Given the description of an element on the screen output the (x, y) to click on. 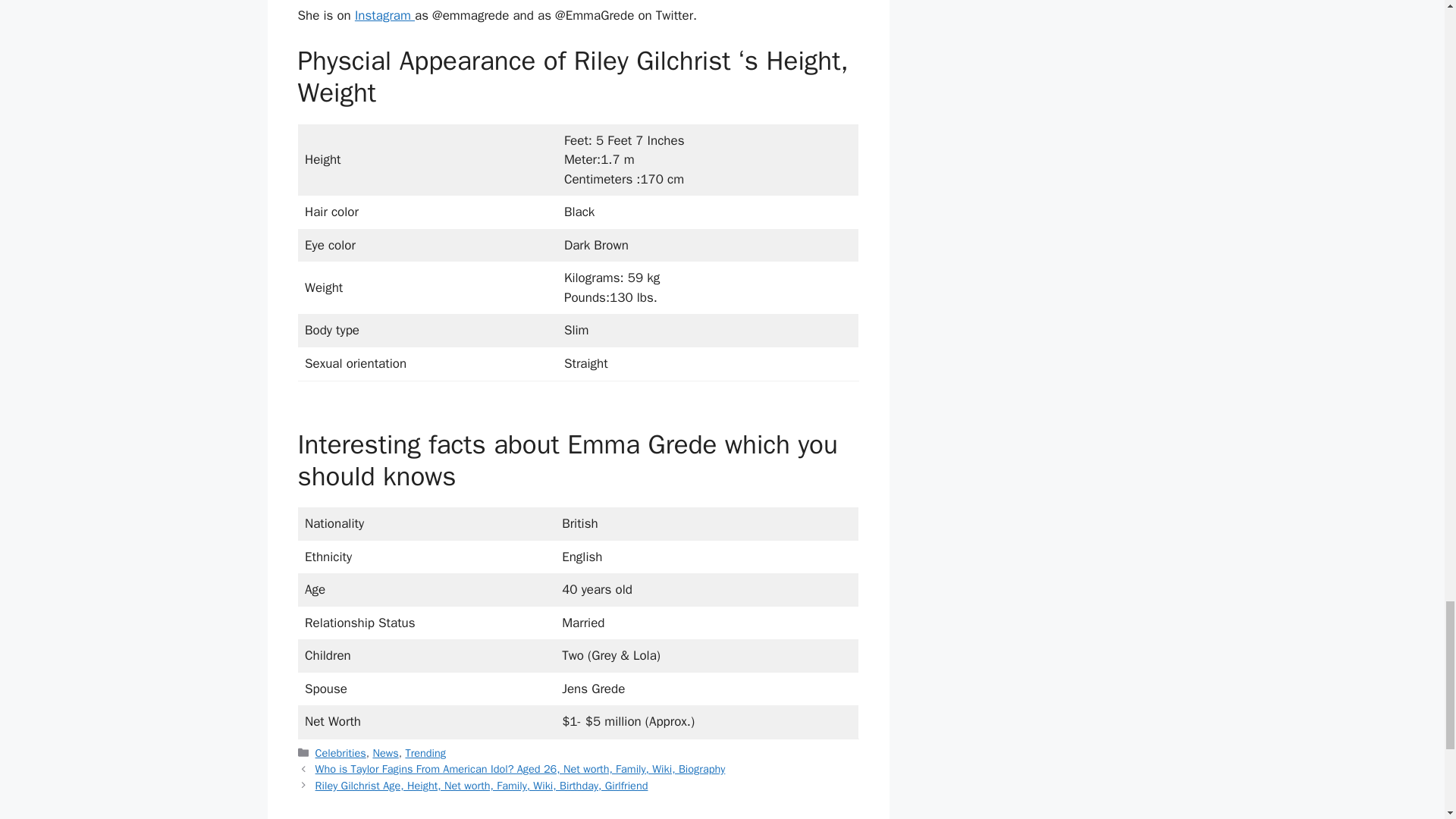
Celebrities (340, 753)
Instagram (384, 15)
Trending (424, 753)
News (384, 753)
